Given the description of an element on the screen output the (x, y) to click on. 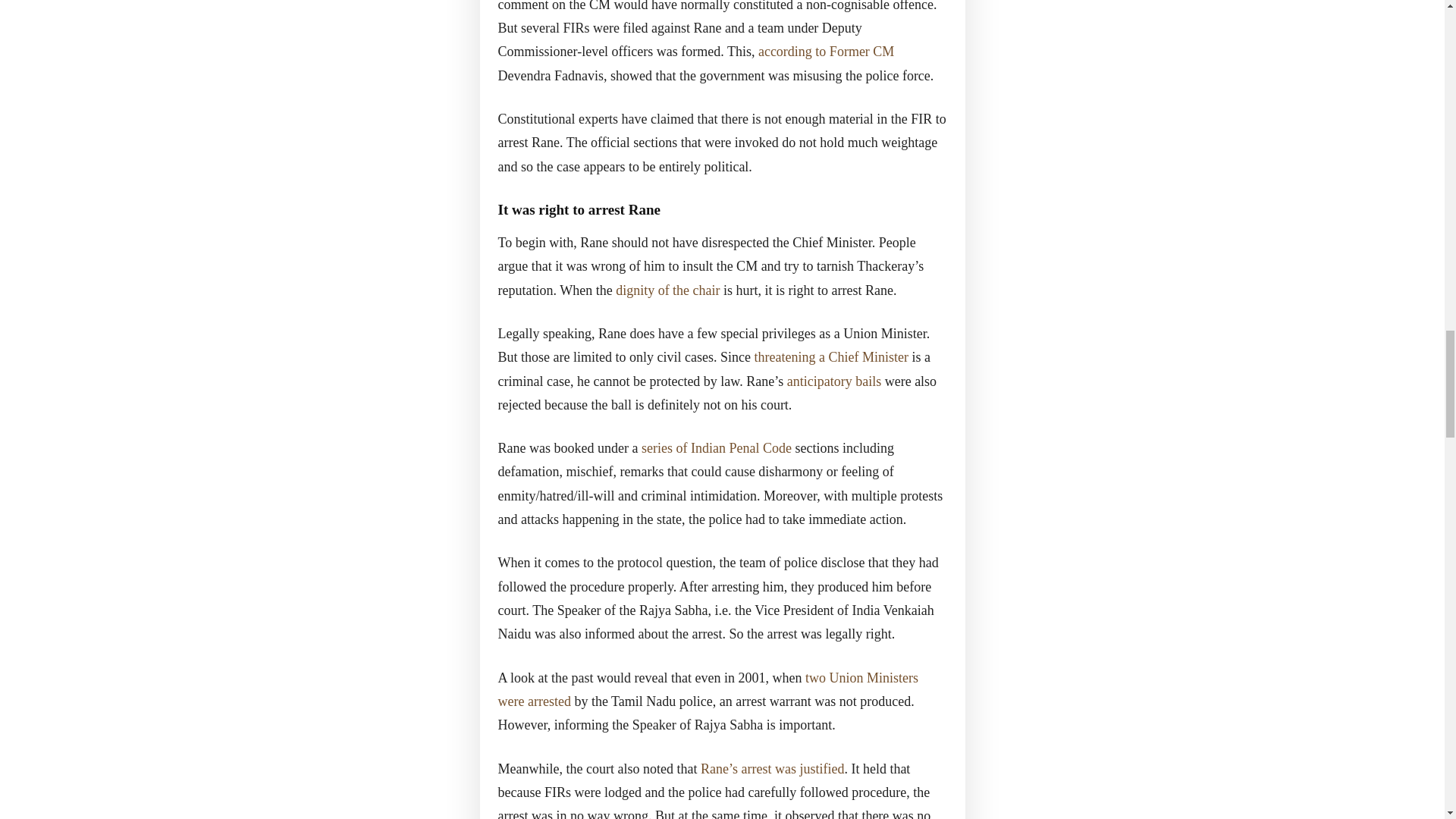
anticipatory bails (833, 381)
dignity of the chair (667, 290)
series of Indian Penal Code (717, 447)
two Union Ministers were arrested (707, 689)
threatening a Chief Minister (830, 356)
according to Former CM (825, 51)
